Given the description of an element on the screen output the (x, y) to click on. 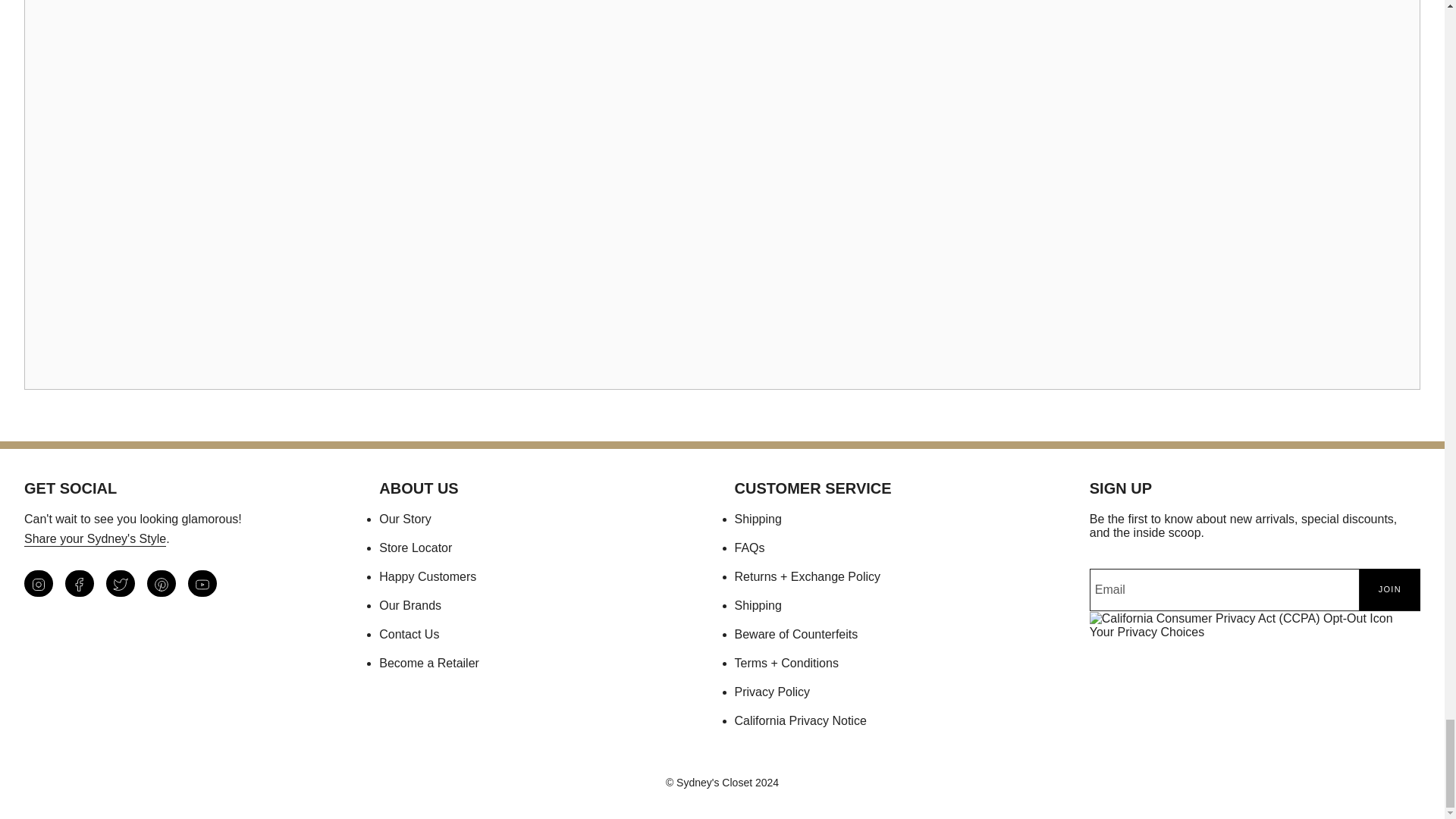
Sydney's Closet on YouTube (201, 583)
Sydney's Closet on Facebook (79, 583)
Sydney's Closet on Pinterest (161, 583)
Sydney's Closet on Twitter (120, 583)
Sydney's Closet on Instagram (38, 583)
